Given the description of an element on the screen output the (x, y) to click on. 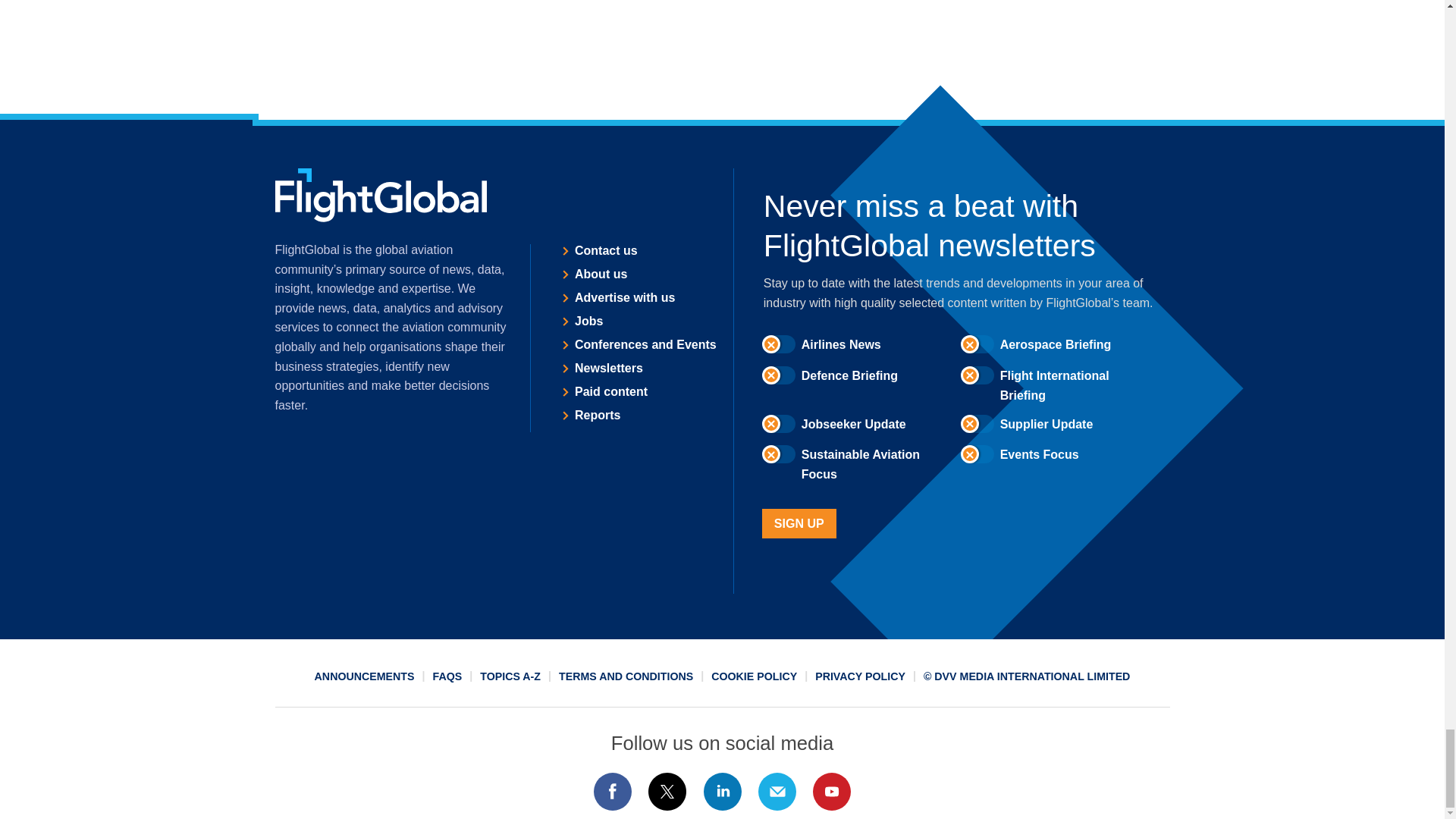
Connect with us on Twitter (667, 791)
Connect with us on Linked In (721, 791)
Connect with us on Facebook (611, 791)
Connect with us on Youtube (831, 791)
Email us (776, 791)
